Given the description of an element on the screen output the (x, y) to click on. 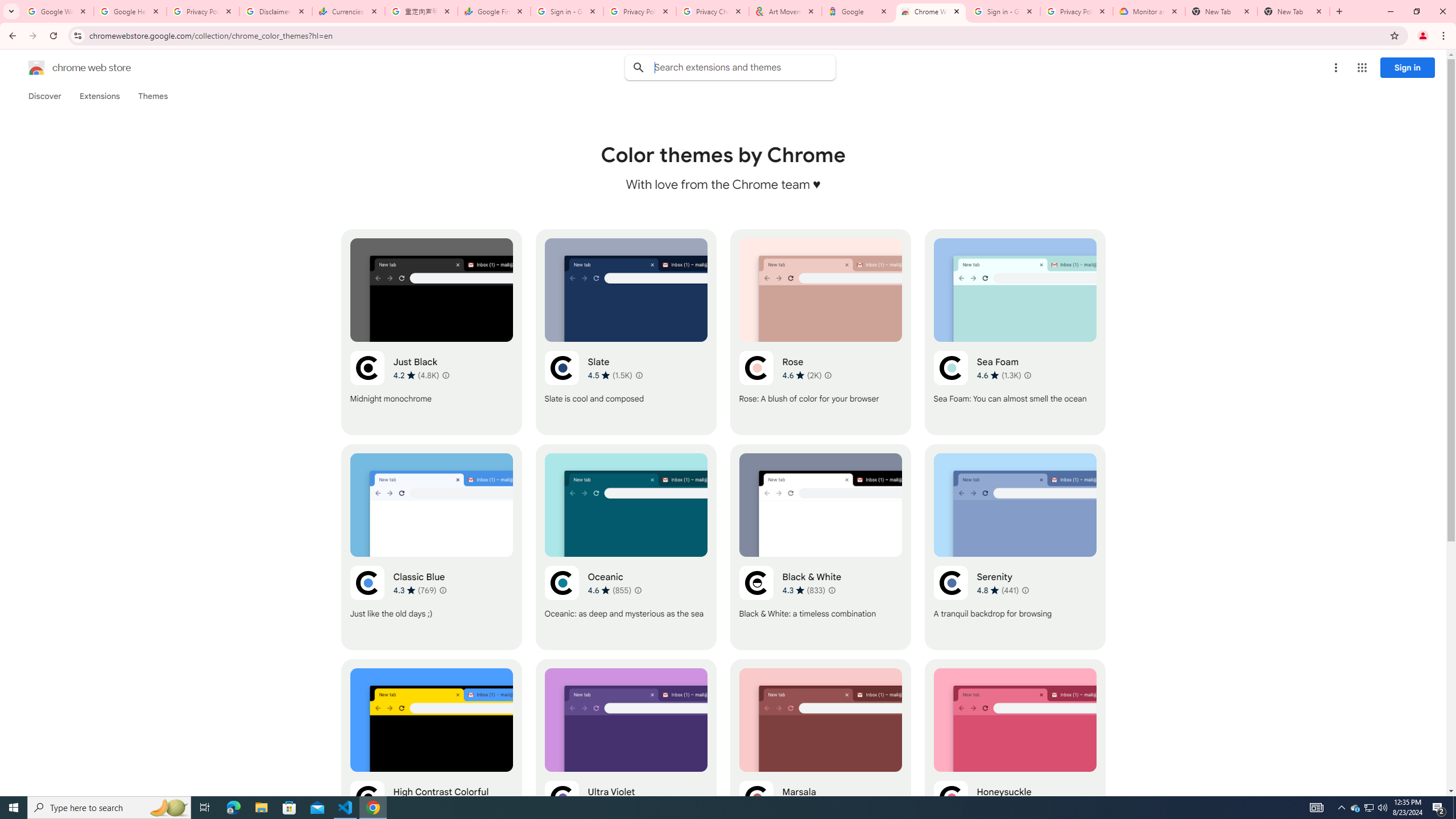
Learn more about results and reviews "Classic Blue" (442, 590)
Privacy Checkup (712, 11)
New Tab (1221, 11)
Learn more about results and reviews "Rose" (827, 375)
Currencies - Google Finance (348, 11)
Learn more about results and reviews "Black & White" (831, 590)
Chrome Web Store - Color themes by Chrome (930, 11)
Learn more about results and reviews "Serenity" (1025, 590)
Discover (43, 95)
Black & White (820, 546)
Learn more about results and reviews "Sea Foam" (1027, 375)
